Given the description of an element on the screen output the (x, y) to click on. 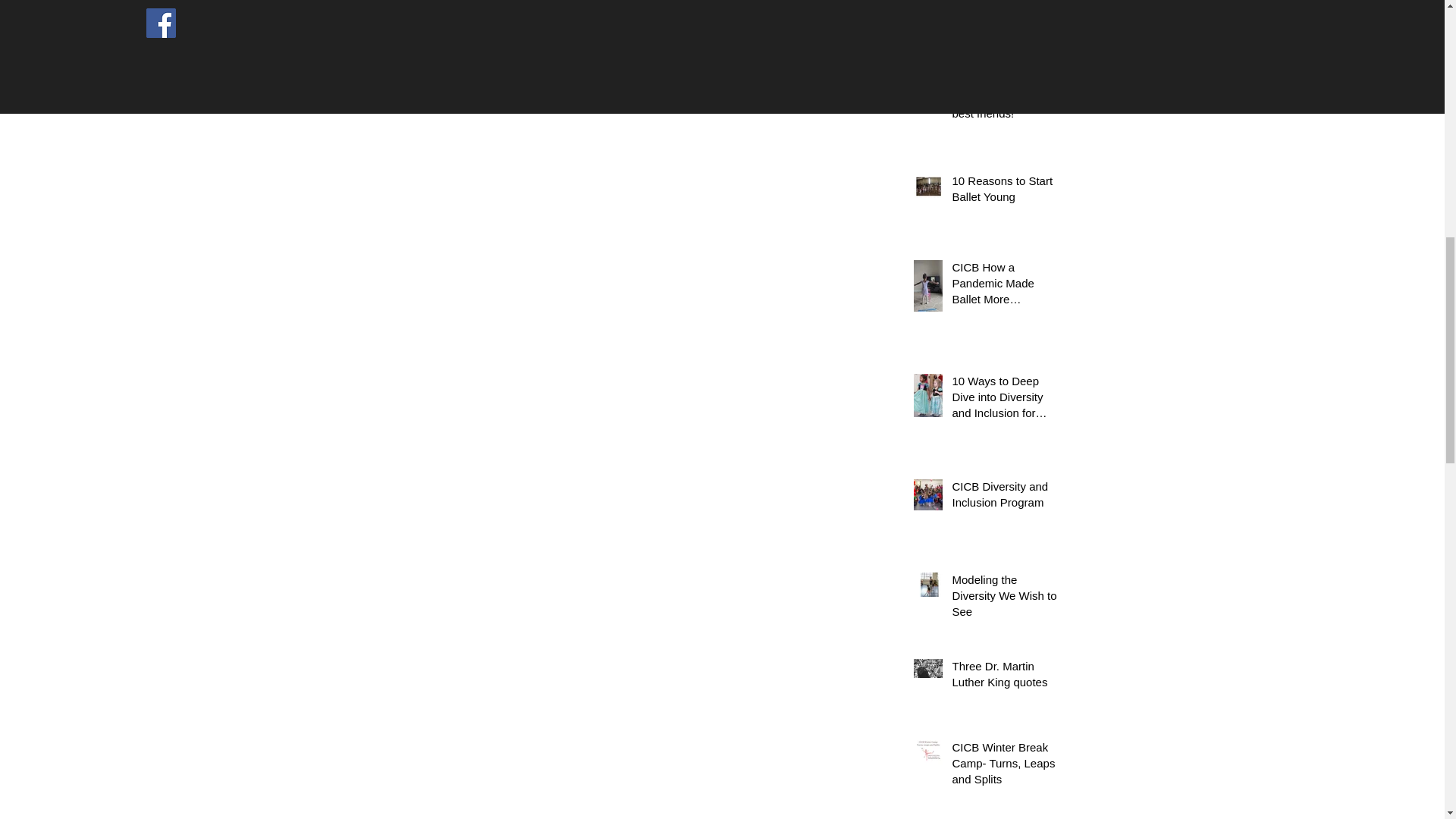
CICB How a Pandemic Made Ballet More Accessible (1006, 285)
Modeling the Diversity We Wish to See (1006, 598)
CICB Offers Full Day Summer Dance Camp (1006, 27)
Three Dr. Martin Luther King quotes (1006, 677)
10 Reasons to Start Ballet Young (1006, 191)
Ballet friends are the best friends! (1006, 108)
CICB Diversity and Inclusion Program (1006, 497)
CICB Winter Break Camp- Turns, Leaps and Splits (1006, 766)
